Given the description of an element on the screen output the (x, y) to click on. 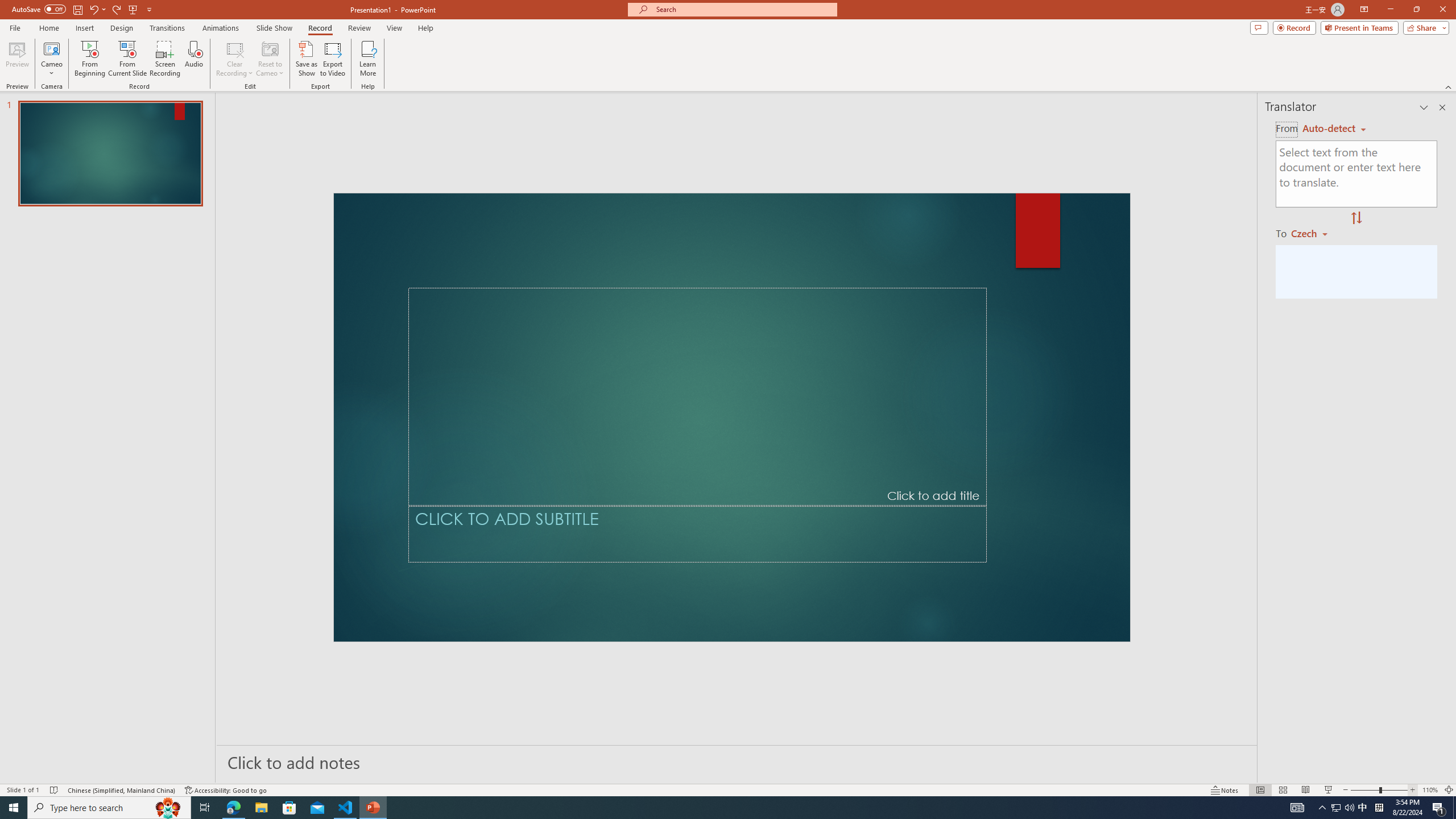
Share (1426, 47)
Zoom (1363, 773)
Ink to Shape (506, 92)
Column left (7, 757)
Zoom 300% (1438, 773)
Layout (331, 47)
Ruler (375, 92)
Minimize (1353, 18)
Restore Down (1394, 18)
Pen: Galaxy, 1 mm (241, 89)
Read Mode (1219, 773)
AutomationID: BadgeAnchorLargeTicker (26, 800)
